Given the description of an element on the screen output the (x, y) to click on. 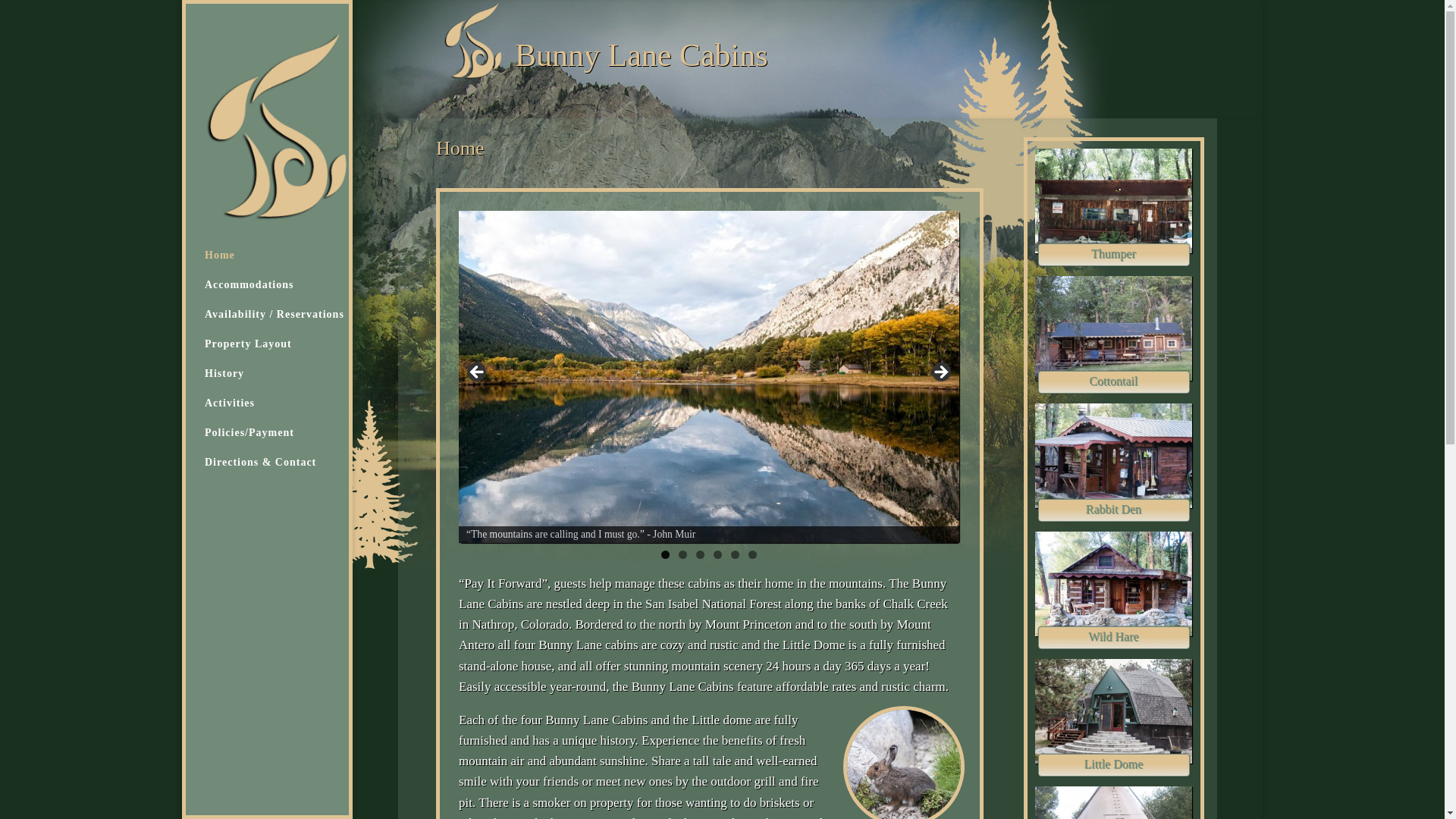
Accommodations (293, 292)
Activities (293, 410)
4 (717, 554)
Wild Hare (1113, 637)
Thumper (1113, 254)
5 (734, 554)
Cottontail (1113, 382)
Home (293, 262)
2 (682, 554)
Bunny Lane Cabins (641, 54)
6 (752, 554)
Little Dome (1113, 764)
Property Layout (293, 351)
History (293, 380)
3 (699, 554)
